Given the description of an element on the screen output the (x, y) to click on. 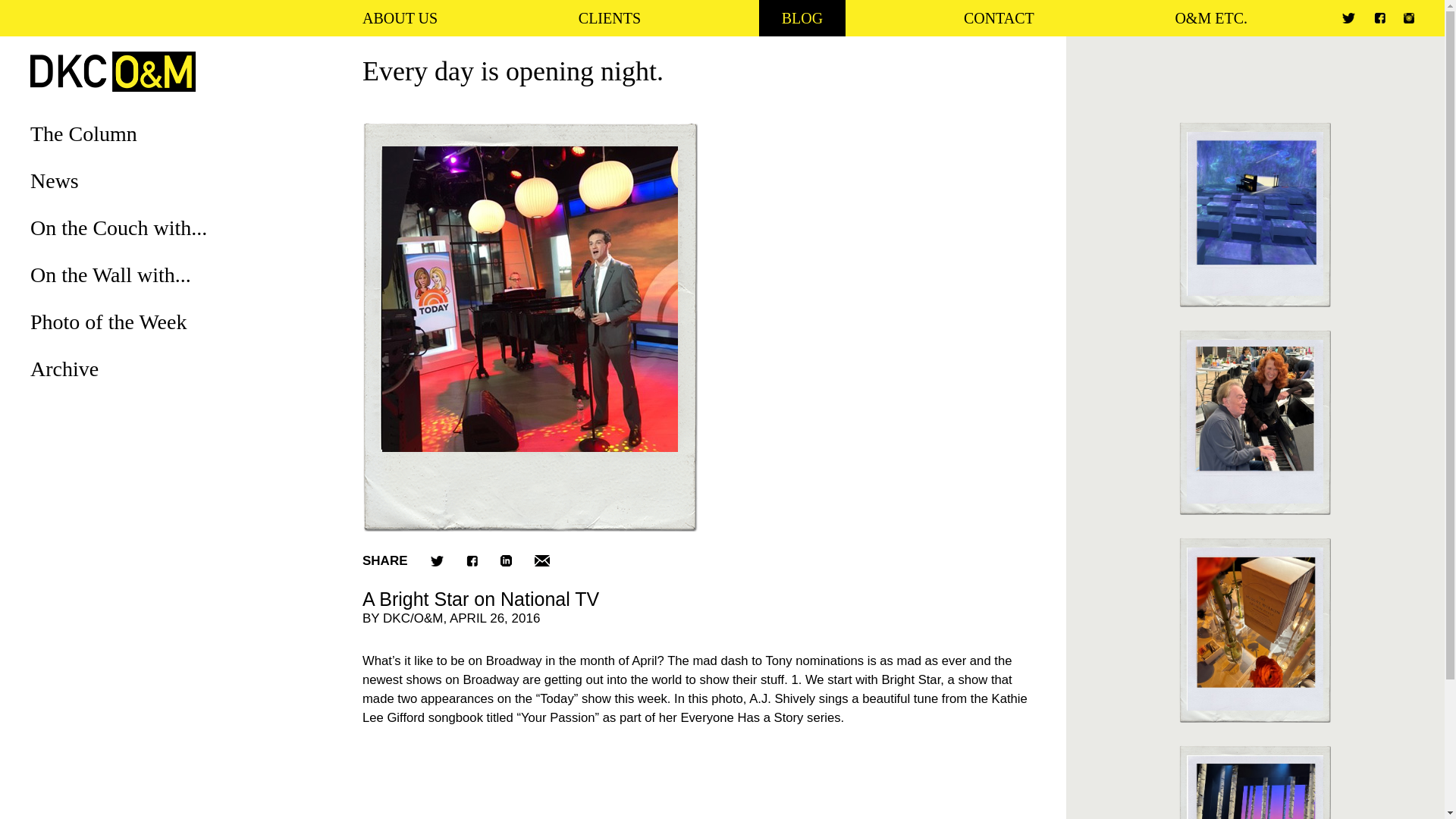
News (54, 180)
Facebook (471, 560)
The Column (83, 133)
Twitter (1348, 18)
Facebook (1380, 17)
CLIENTS (609, 18)
Twitter (437, 560)
On the Wall with... (110, 274)
CONTACT (998, 18)
Email (542, 560)
